Given the description of an element on the screen output the (x, y) to click on. 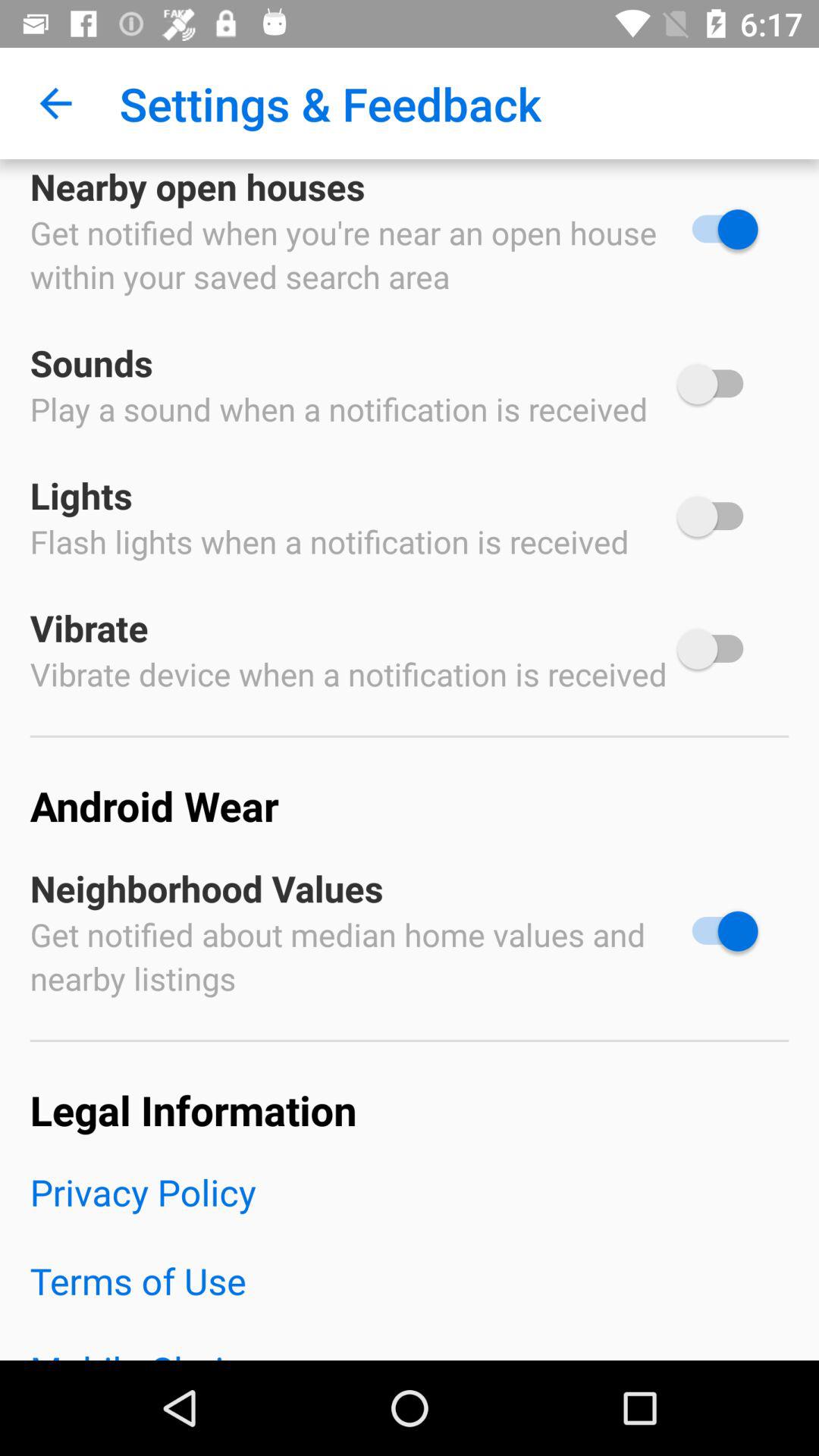
click the icon below legal information icon (409, 1211)
